Given the description of an element on the screen output the (x, y) to click on. 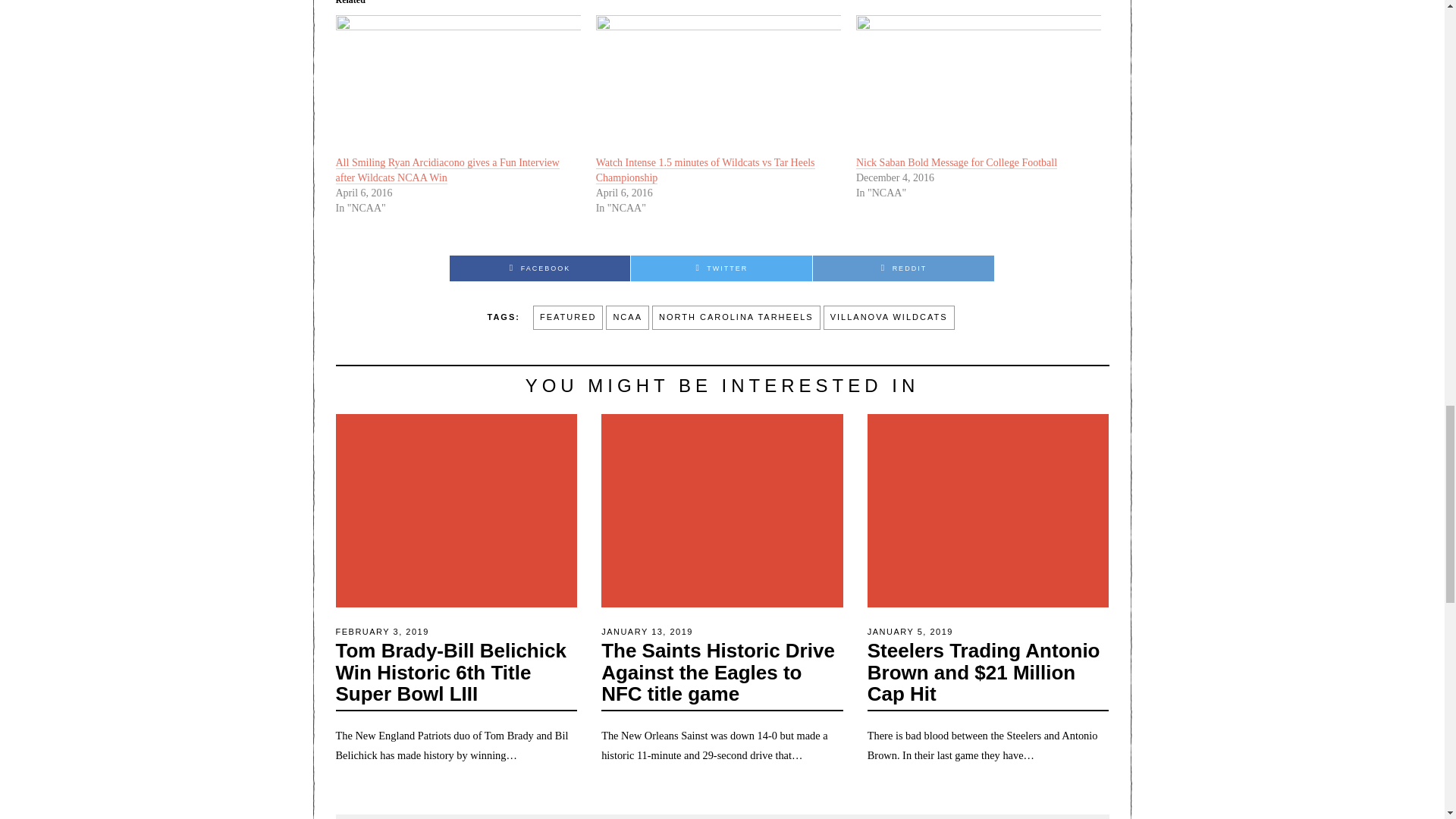
FACEBOOK (539, 268)
Reddit (903, 268)
VILLANOVA WILDCATS (889, 317)
REDDIT (903, 268)
Facebook (539, 268)
NORTH CAROLINA TARHEELS (736, 317)
Nick Saban Bold Message for College Football (978, 85)
Nick Saban Bold Message for College Football (956, 162)
Nick Saban Bold Message for College Football (956, 162)
NCAA (627, 317)
Twitter (721, 268)
